Given the description of an element on the screen output the (x, y) to click on. 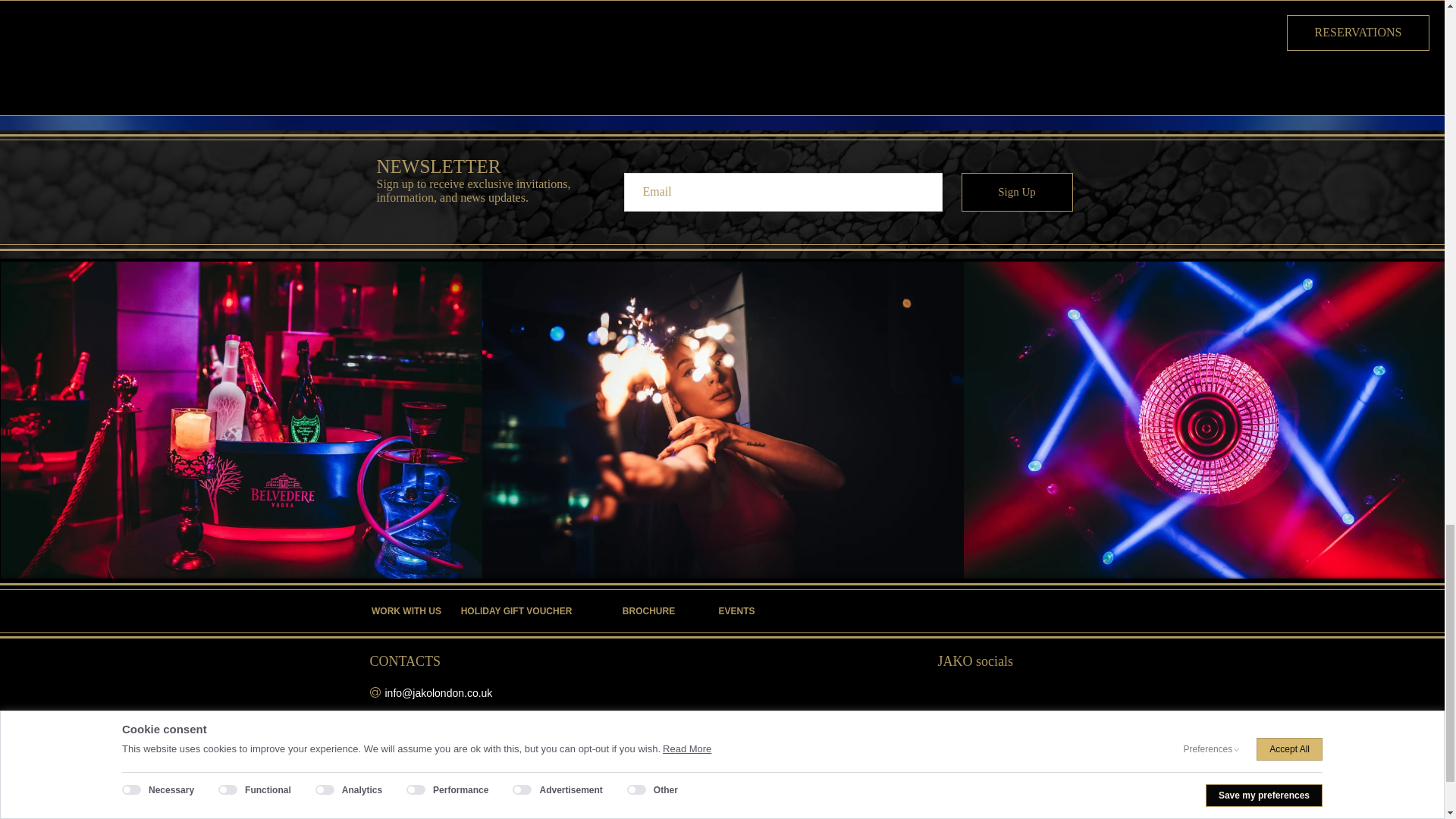
BROCHURE (649, 611)
WORK WITH US (406, 611)
HOLIDAY GIFT VOUCHER (516, 611)
EVENTS (736, 611)
Sign Up (1016, 191)
